Given the description of an element on the screen output the (x, y) to click on. 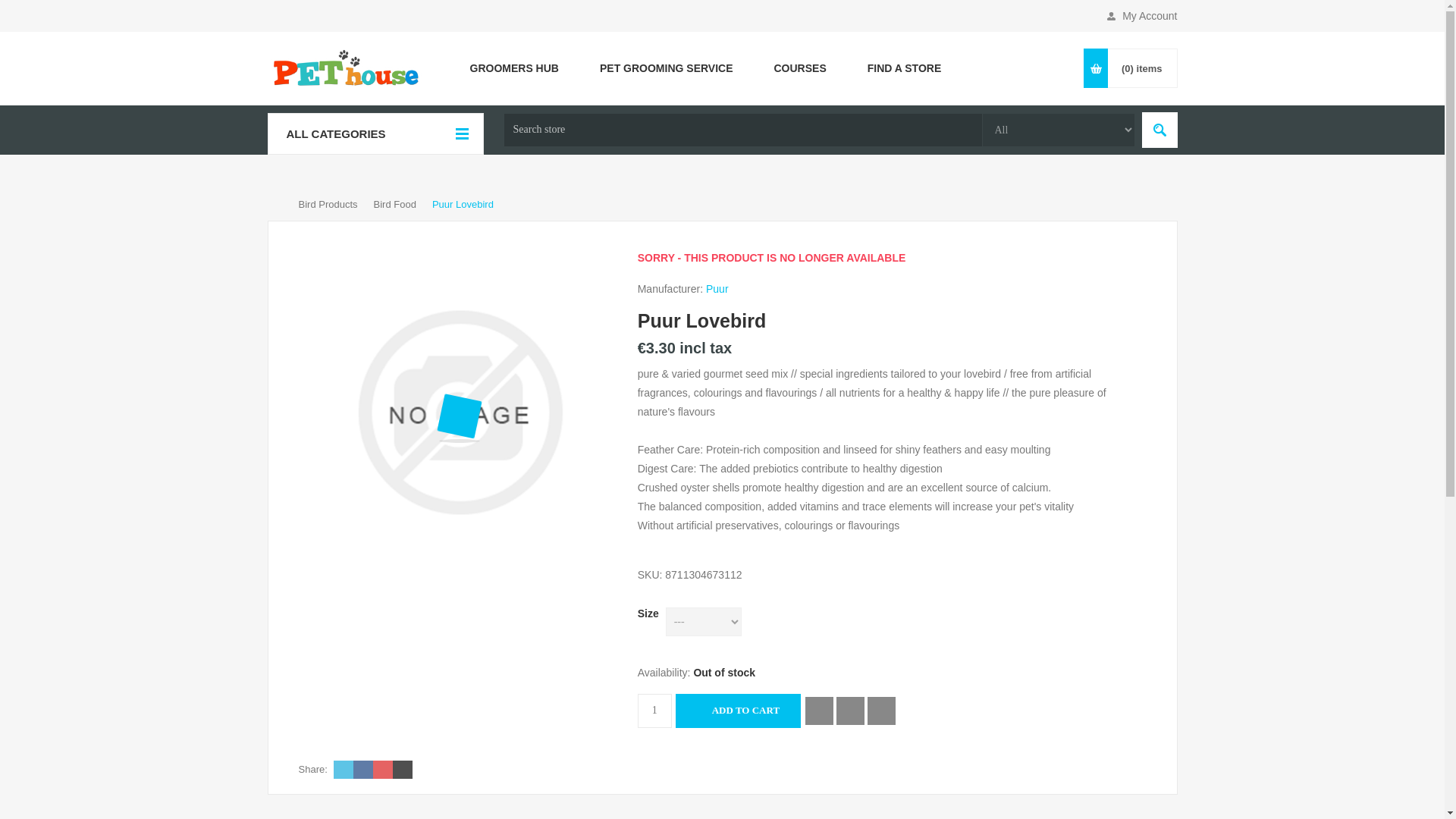
Add to compare list (849, 710)
COURSES (800, 67)
FIND A STORE (904, 67)
Courses (800, 67)
Pet Grooming Service (666, 67)
GROOMERS HUB (513, 67)
PET GROOMING SERVICE (666, 67)
Groomers Hub (513, 67)
Add to wishlist (818, 710)
Search (1159, 130)
